Given the description of an element on the screen output the (x, y) to click on. 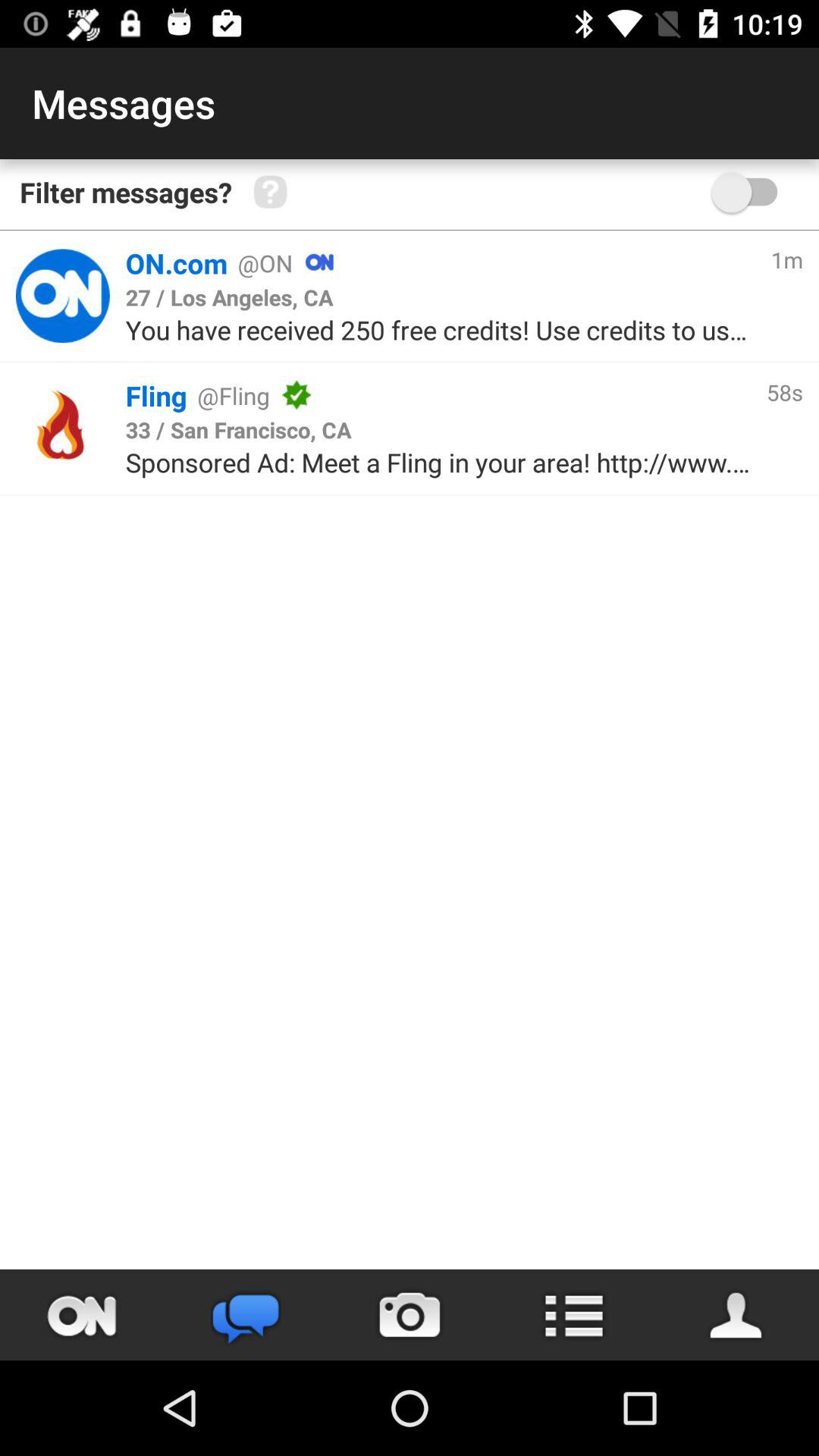
turn on icon above 27 los angeles item (544, 262)
